Given the description of an element on the screen output the (x, y) to click on. 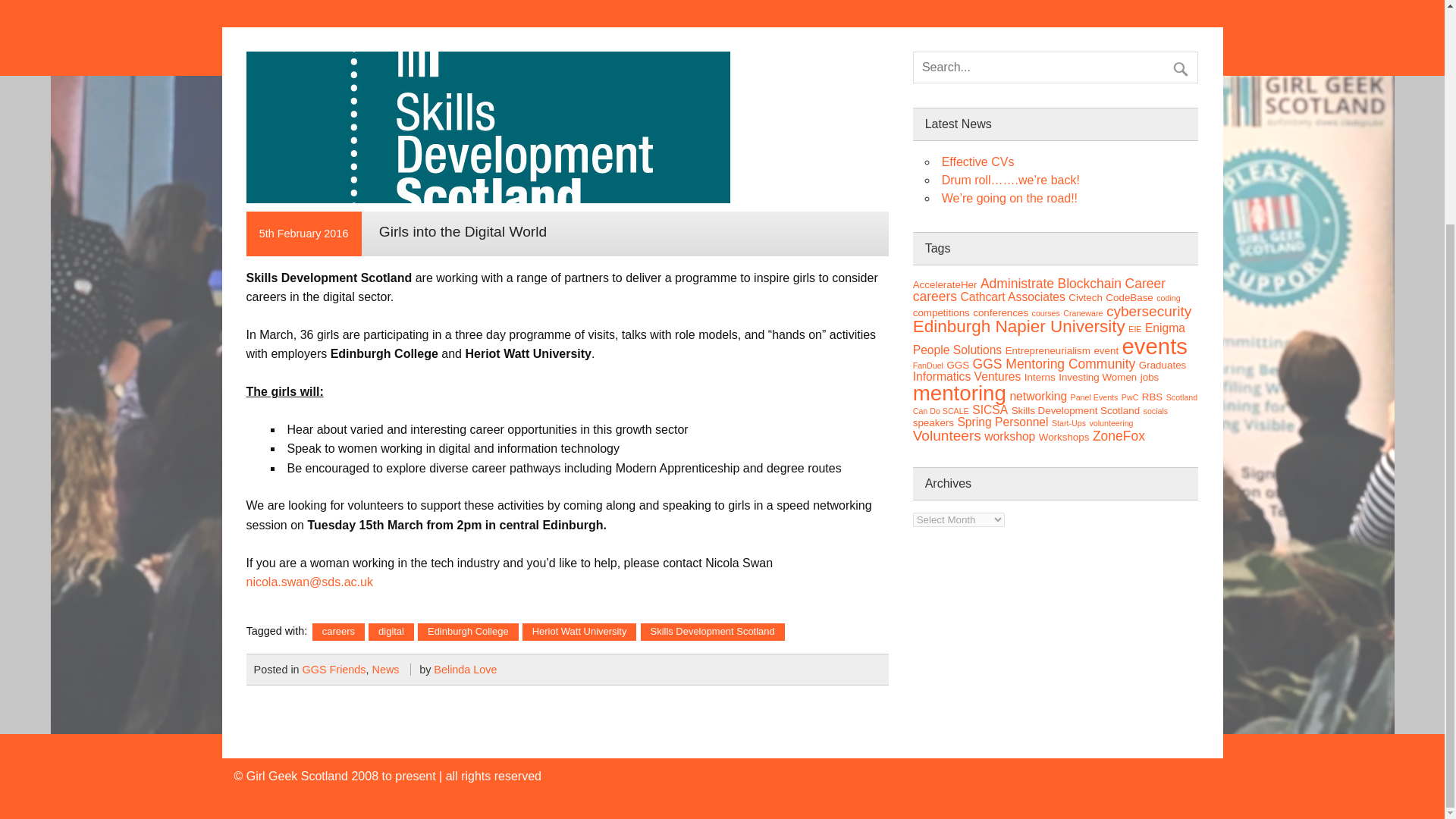
News (385, 669)
Edinburgh College (467, 631)
Cathcart Associates (1011, 296)
Effective CVs (978, 161)
Belinda Love (464, 669)
GGS Friends (334, 669)
Career (1145, 283)
Blockchain (1090, 283)
Civtech (1085, 297)
View all posts by Belinda Love (464, 669)
CodeBase (1129, 297)
careers (339, 631)
careers (934, 296)
Heriot Watt University (579, 631)
Administrate (1016, 283)
